Given the description of an element on the screen output the (x, y) to click on. 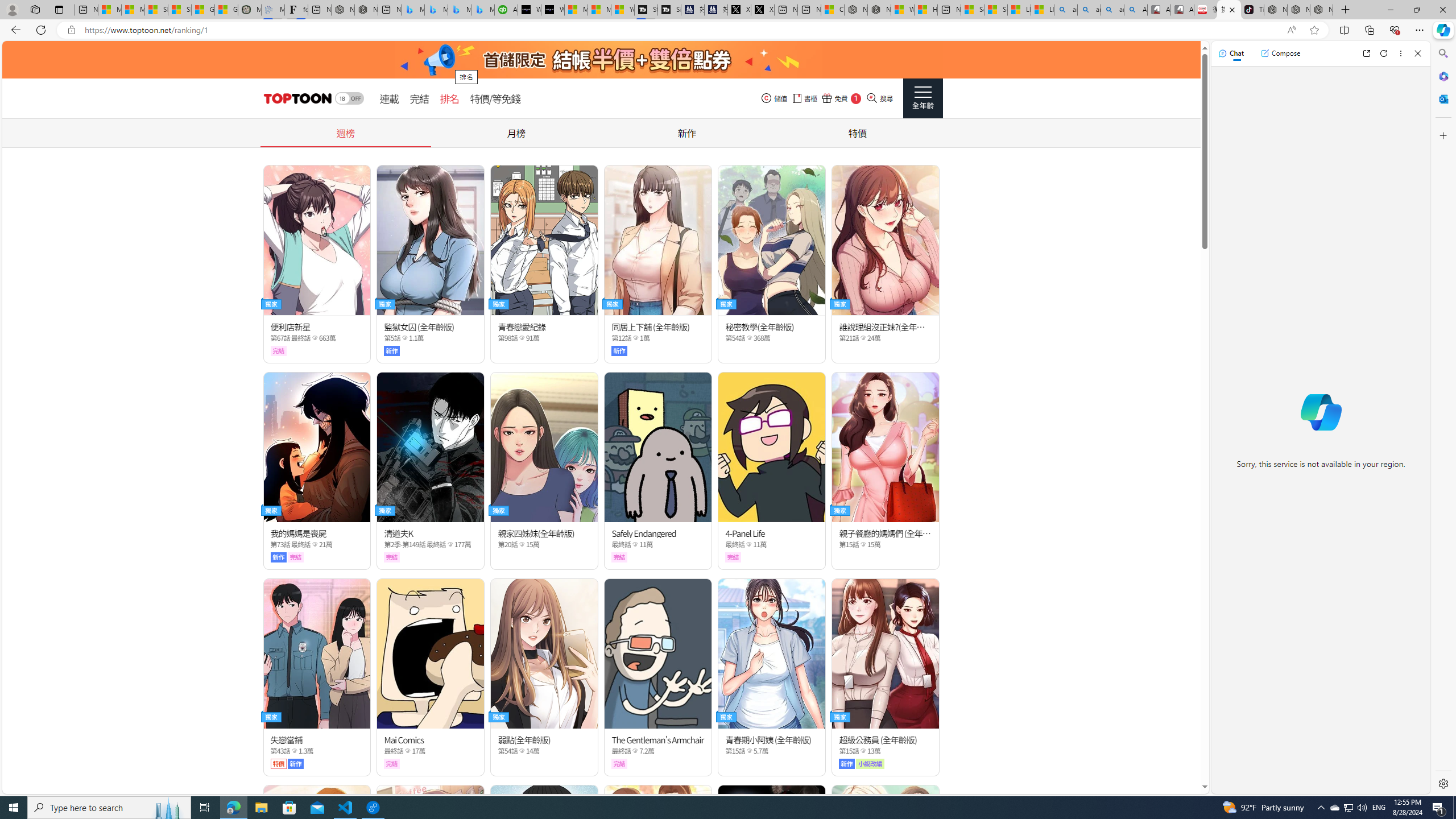
Nordace - Siena Pro 15 Essential Set (1321, 9)
